Given the description of an element on the screen output the (x, y) to click on. 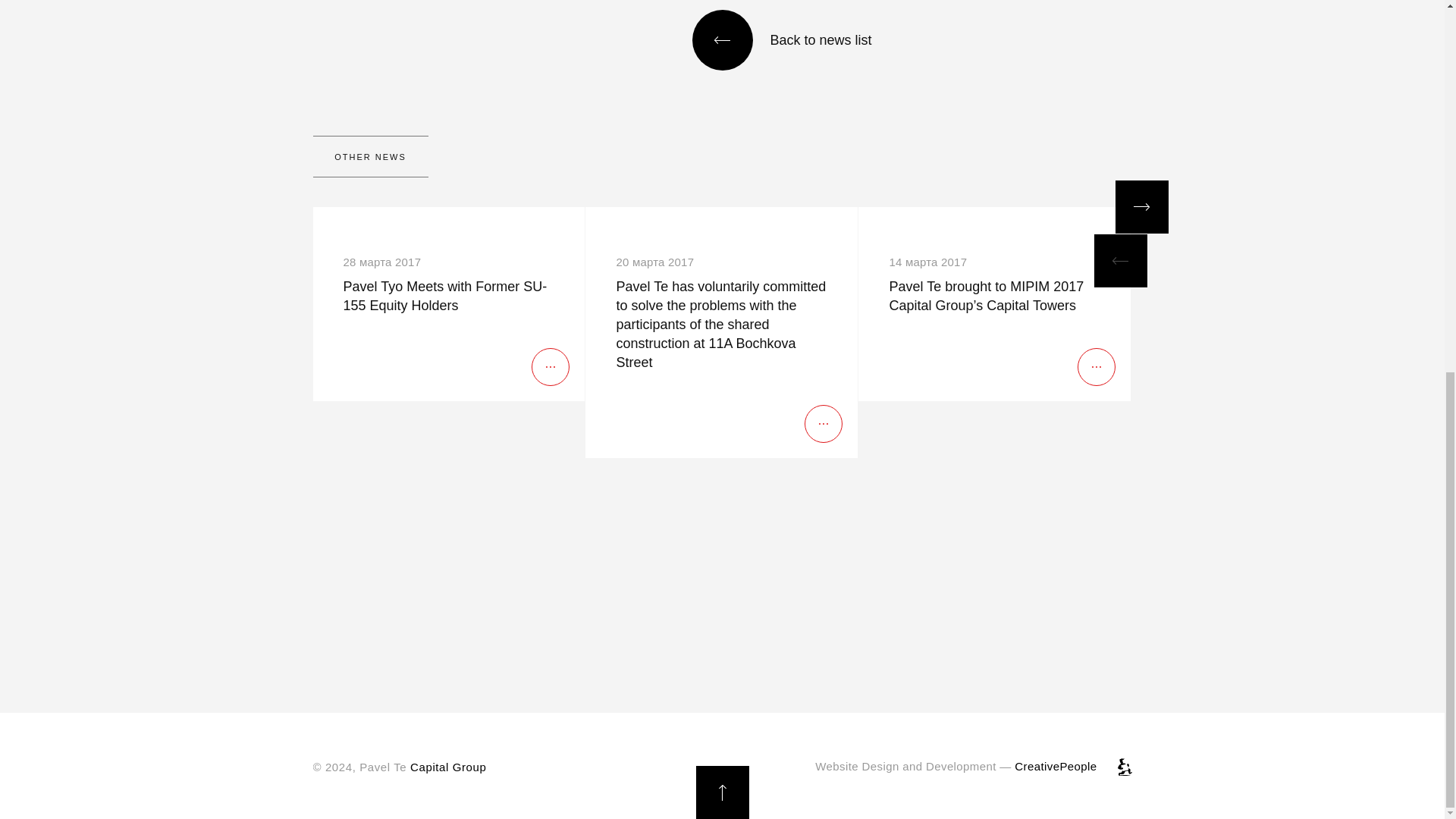
Back to news list (796, 39)
Capital Group (448, 766)
